Given the description of an element on the screen output the (x, y) to click on. 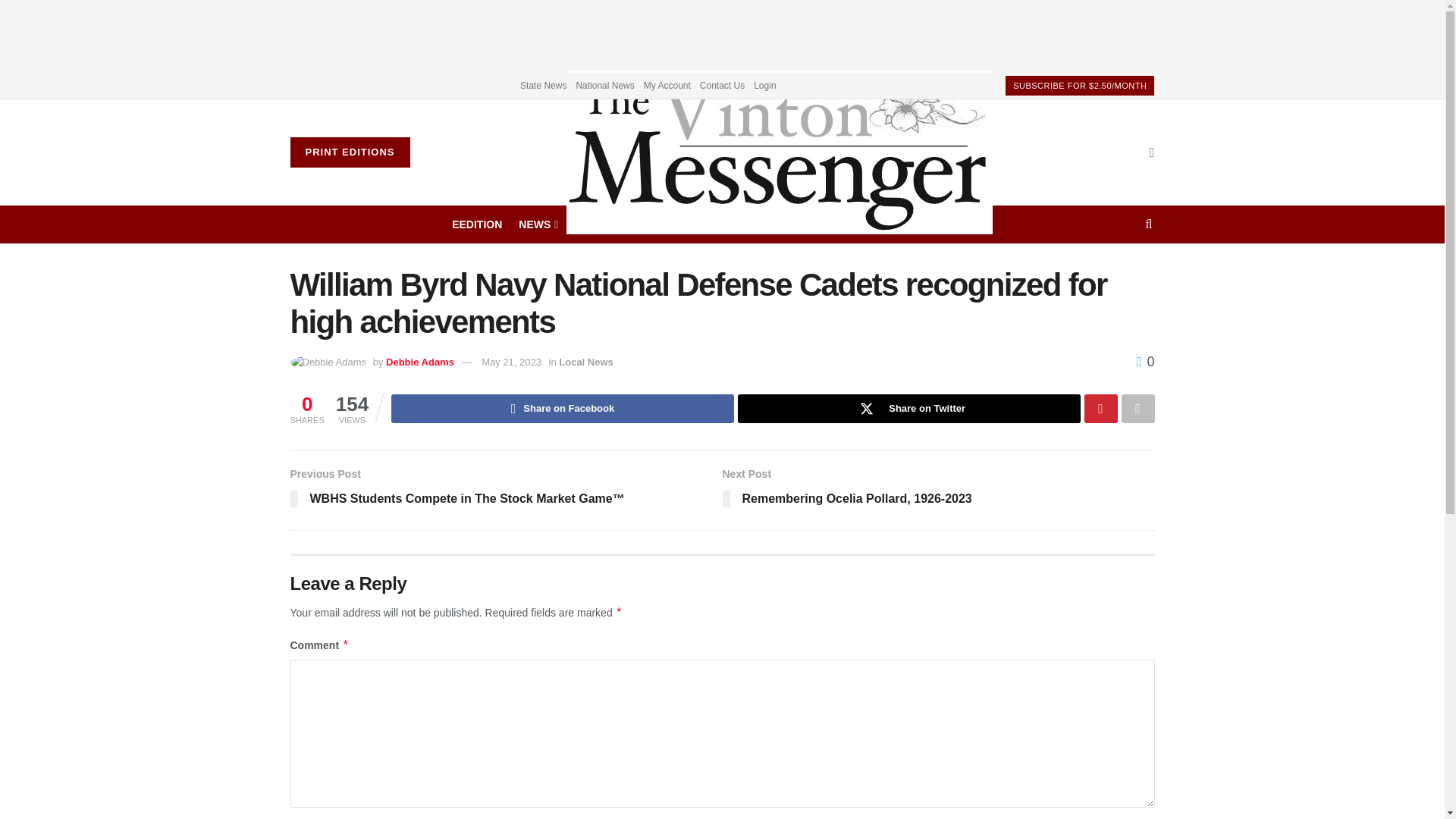
CONTACT US (721, 224)
State News (542, 85)
My Account (666, 85)
May 21, 2023 (511, 361)
0 (1145, 361)
Contact Us (722, 85)
NEWS (537, 224)
National News (604, 85)
Share on Twitter (909, 408)
Share on Facebook (562, 408)
